Given the description of an element on the screen output the (x, y) to click on. 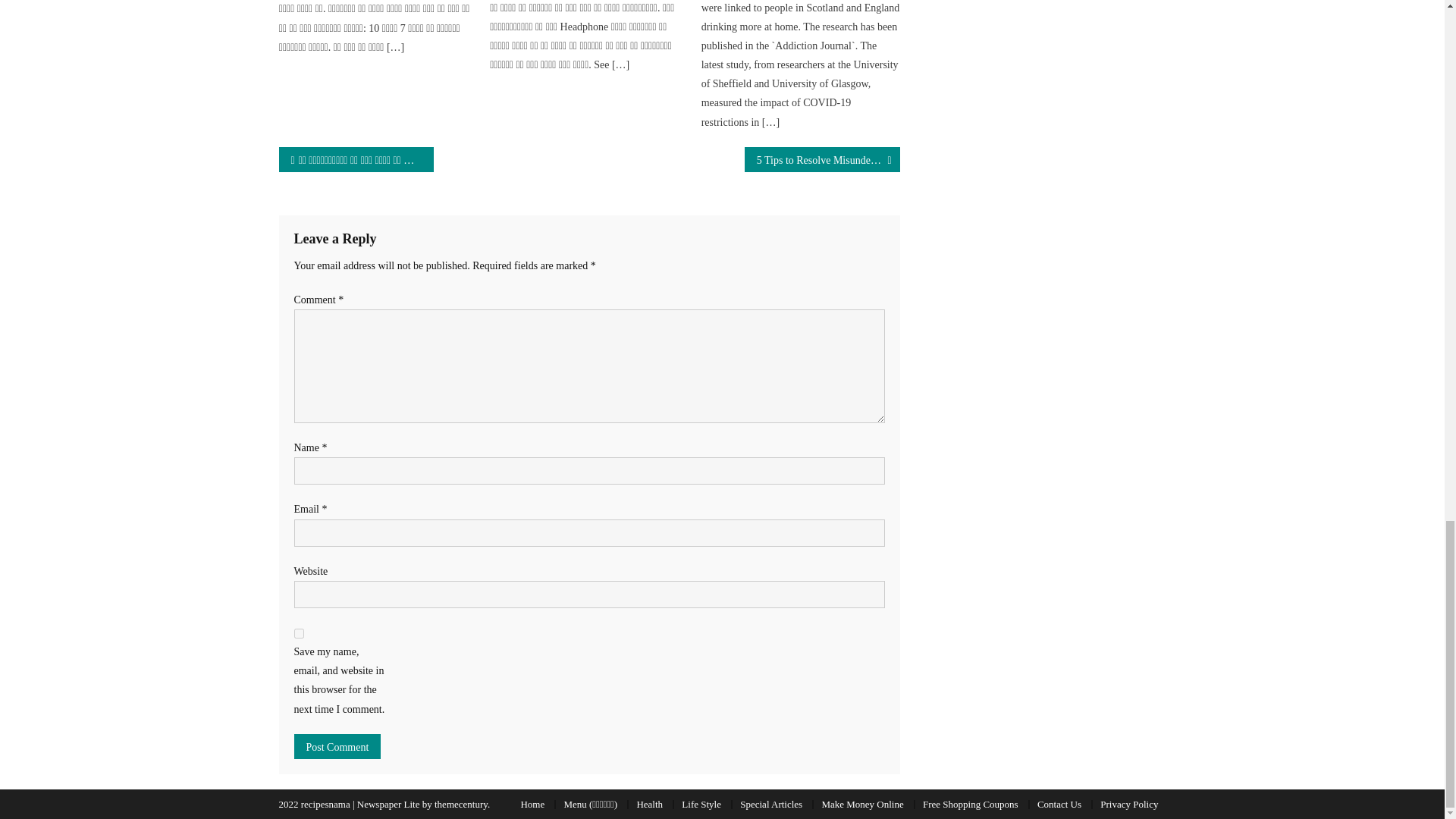
Post Comment (337, 746)
yes (299, 633)
